Given the description of an element on the screen output the (x, y) to click on. 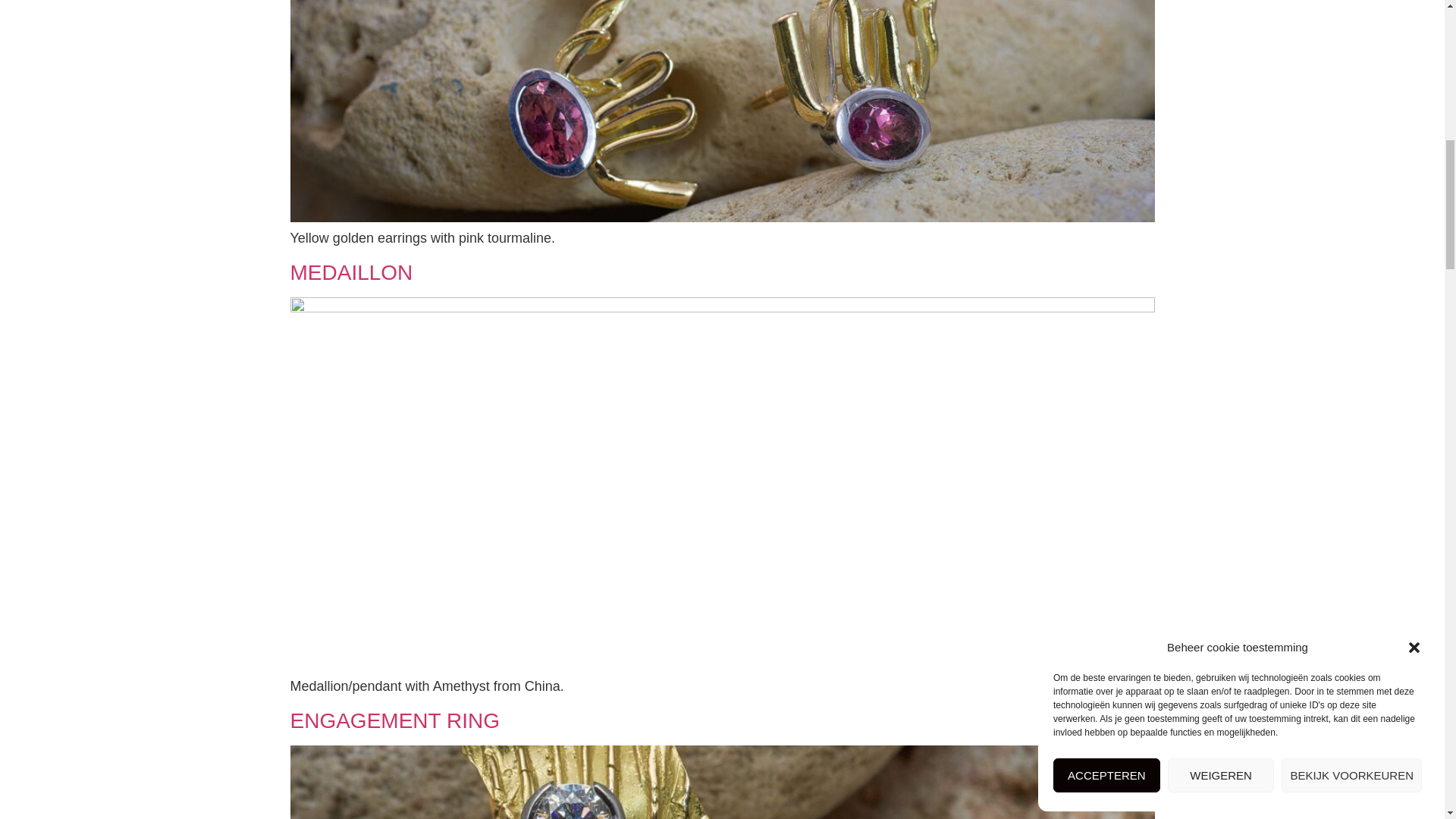
MEDAILLON (350, 272)
